Given the description of an element on the screen output the (x, y) to click on. 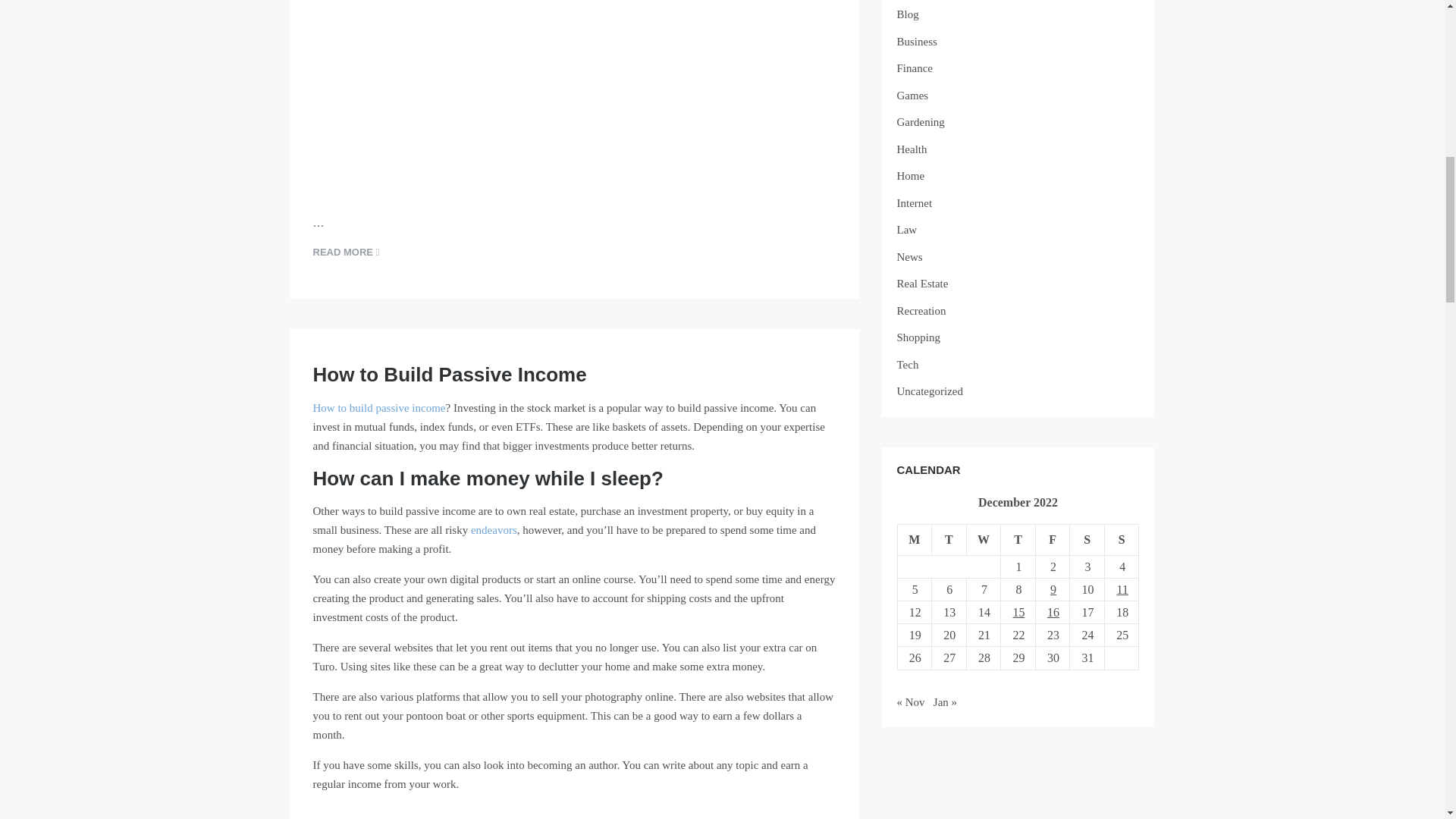
endeavors (493, 530)
How to build passive income (379, 408)
Blog (1017, 14)
How to Build Passive Income (449, 374)
Monday (913, 539)
Thursday (1018, 539)
Saturday (1087, 539)
Sunday (1120, 539)
Wednesday (983, 539)
Tuesday (948, 539)
READ MORE (345, 252)
Friday (1052, 539)
